Given the description of an element on the screen output the (x, y) to click on. 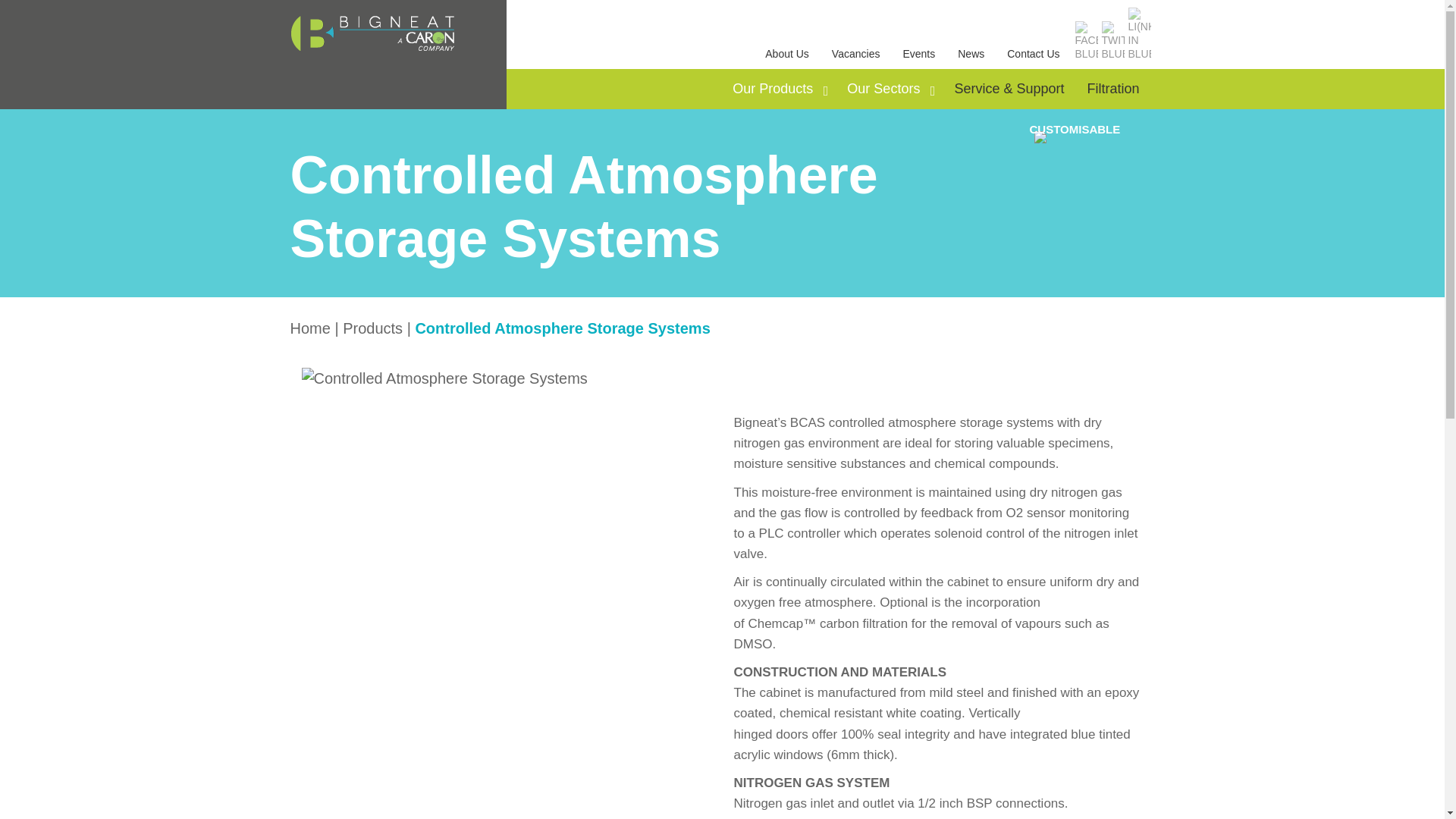
Our Sectors (888, 88)
Events (918, 53)
News (970, 53)
Home (309, 328)
About Us (787, 53)
Vacancies (856, 53)
Contact Us (1032, 53)
Filtration (1112, 88)
Products (372, 328)
Our Products (777, 88)
